Given the description of an element on the screen output the (x, y) to click on. 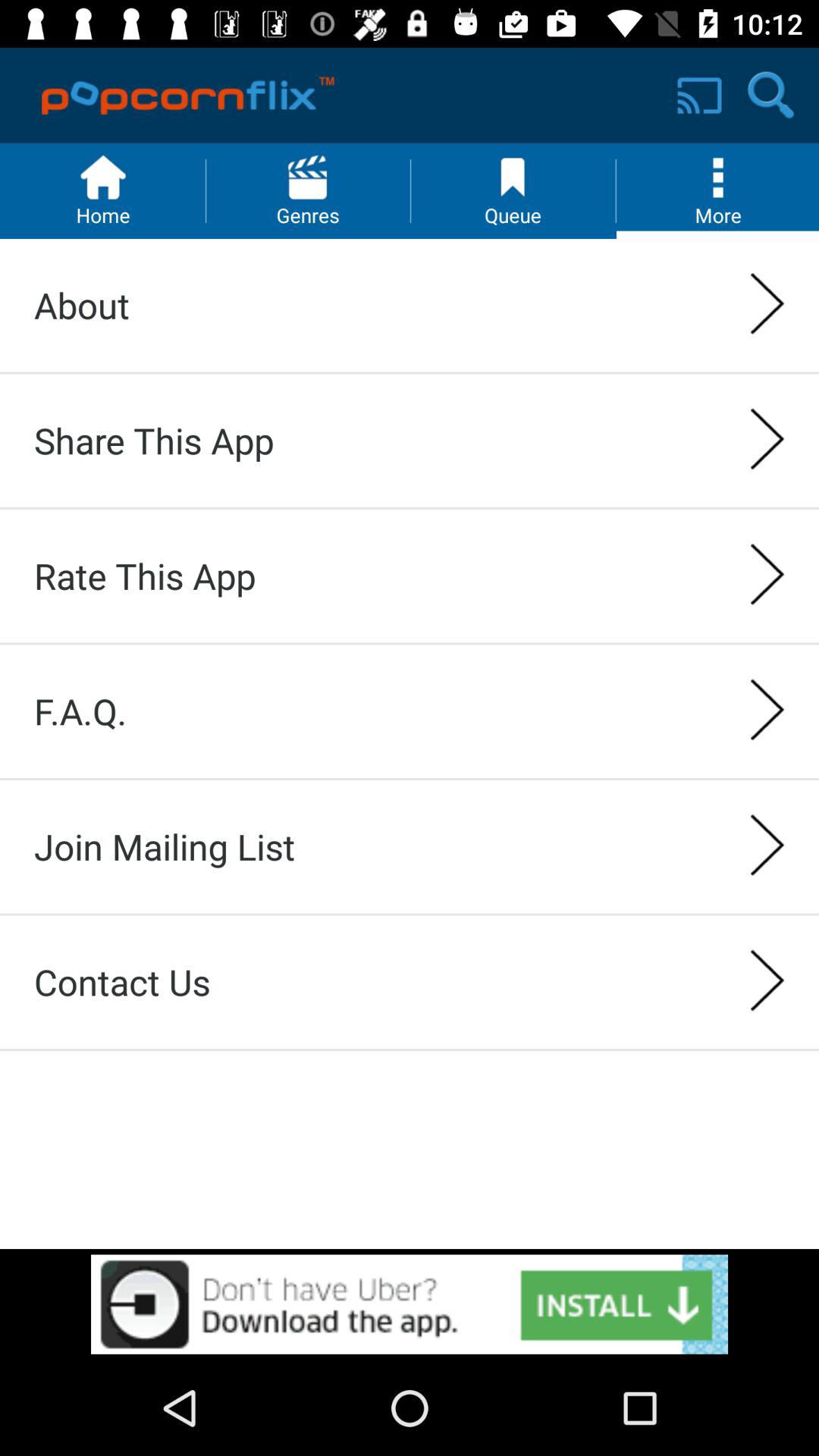
banner advertisement (409, 1304)
